Given the description of an element on the screen output the (x, y) to click on. 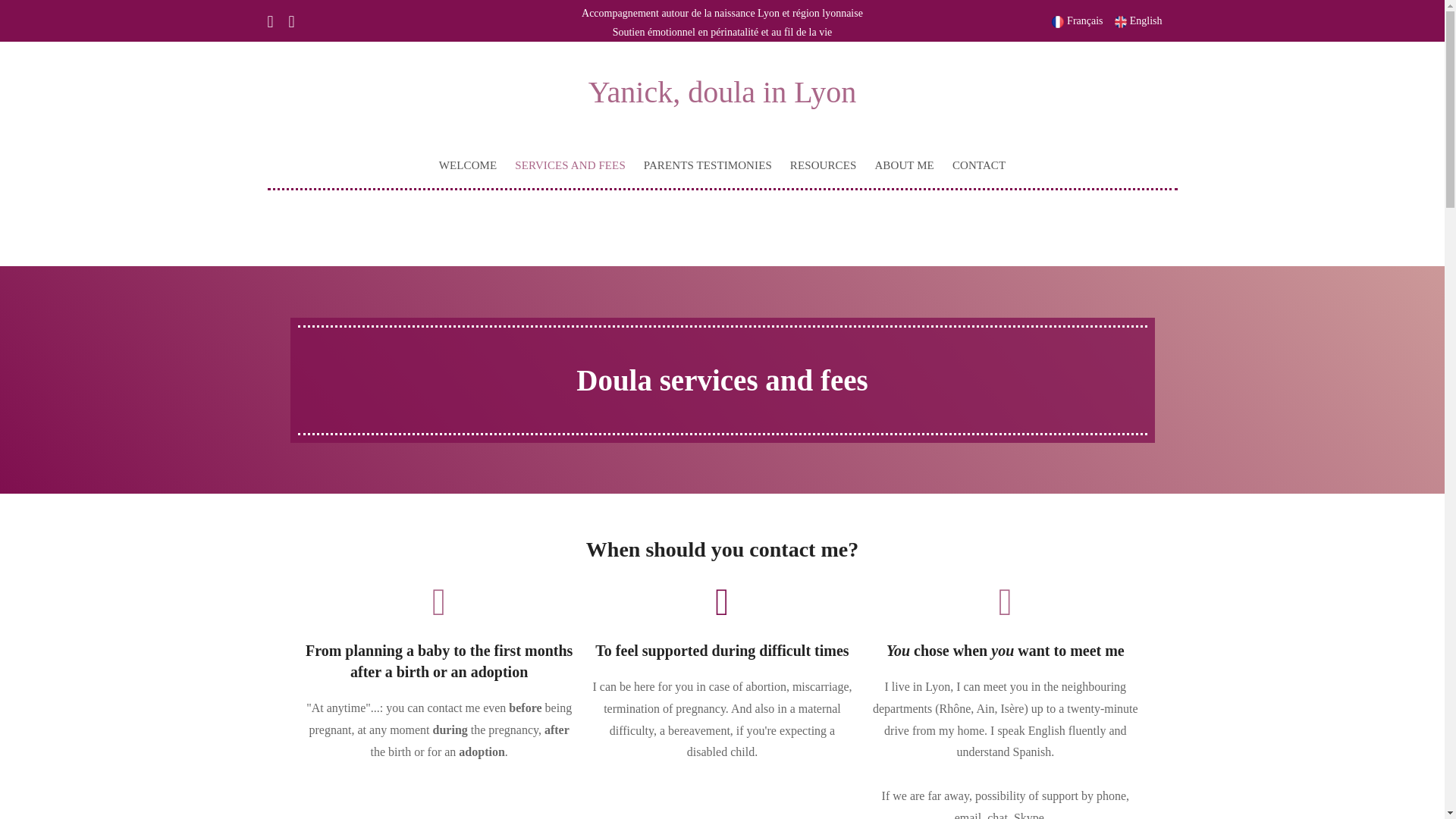
WELCOME (467, 165)
Yanick, doula in Lyon (722, 91)
CONTACT (978, 165)
ABOUT ME (903, 165)
English (1138, 20)
SERVICES AND FEES (569, 165)
PARENTS TESTIMONIES (707, 165)
RESOURCES (823, 165)
